Given the description of an element on the screen output the (x, y) to click on. 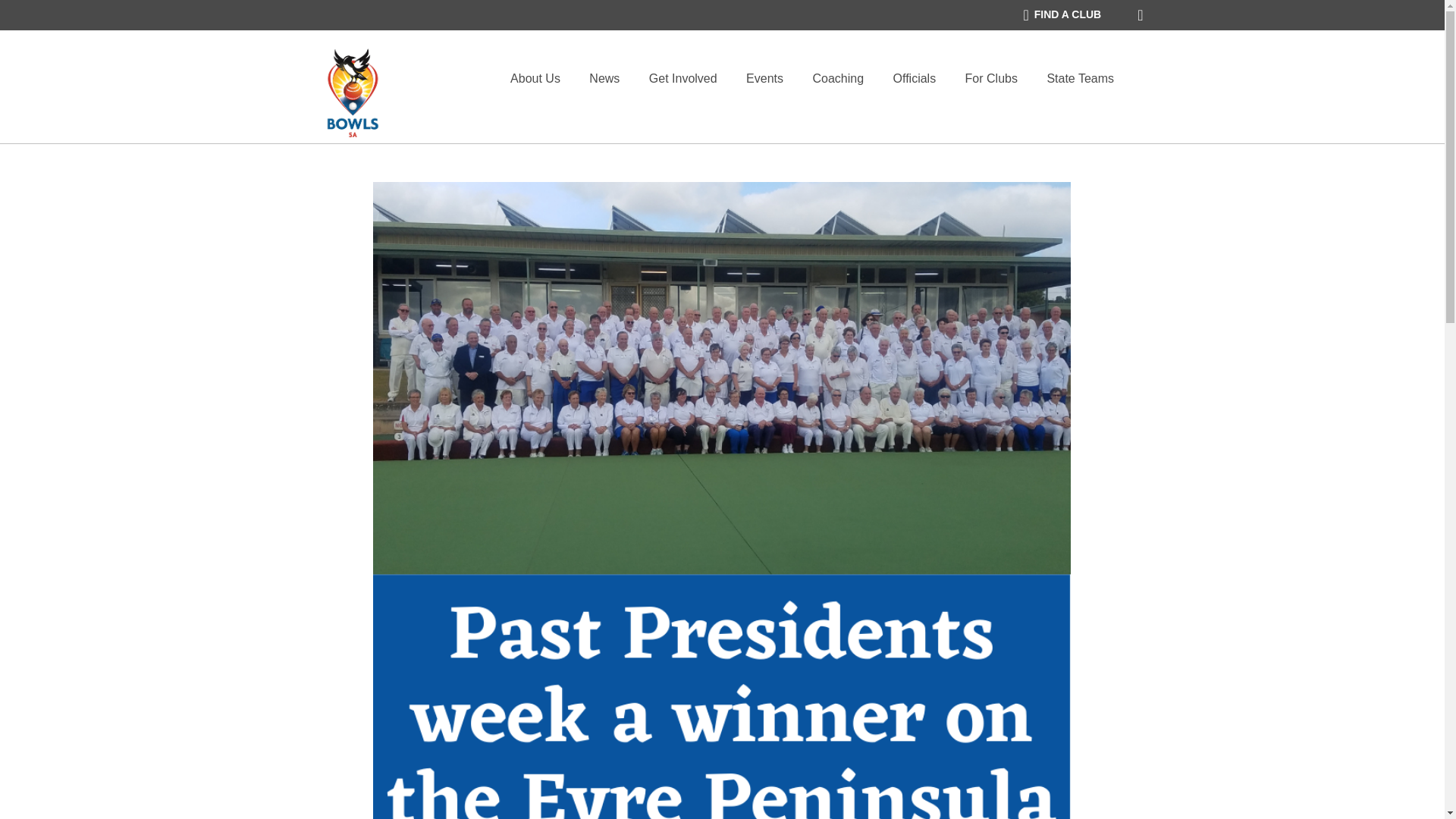
Bowls SA (352, 92)
FIND A CLUB (1061, 15)
Get Involved (683, 78)
